Given the description of an element on the screen output the (x, y) to click on. 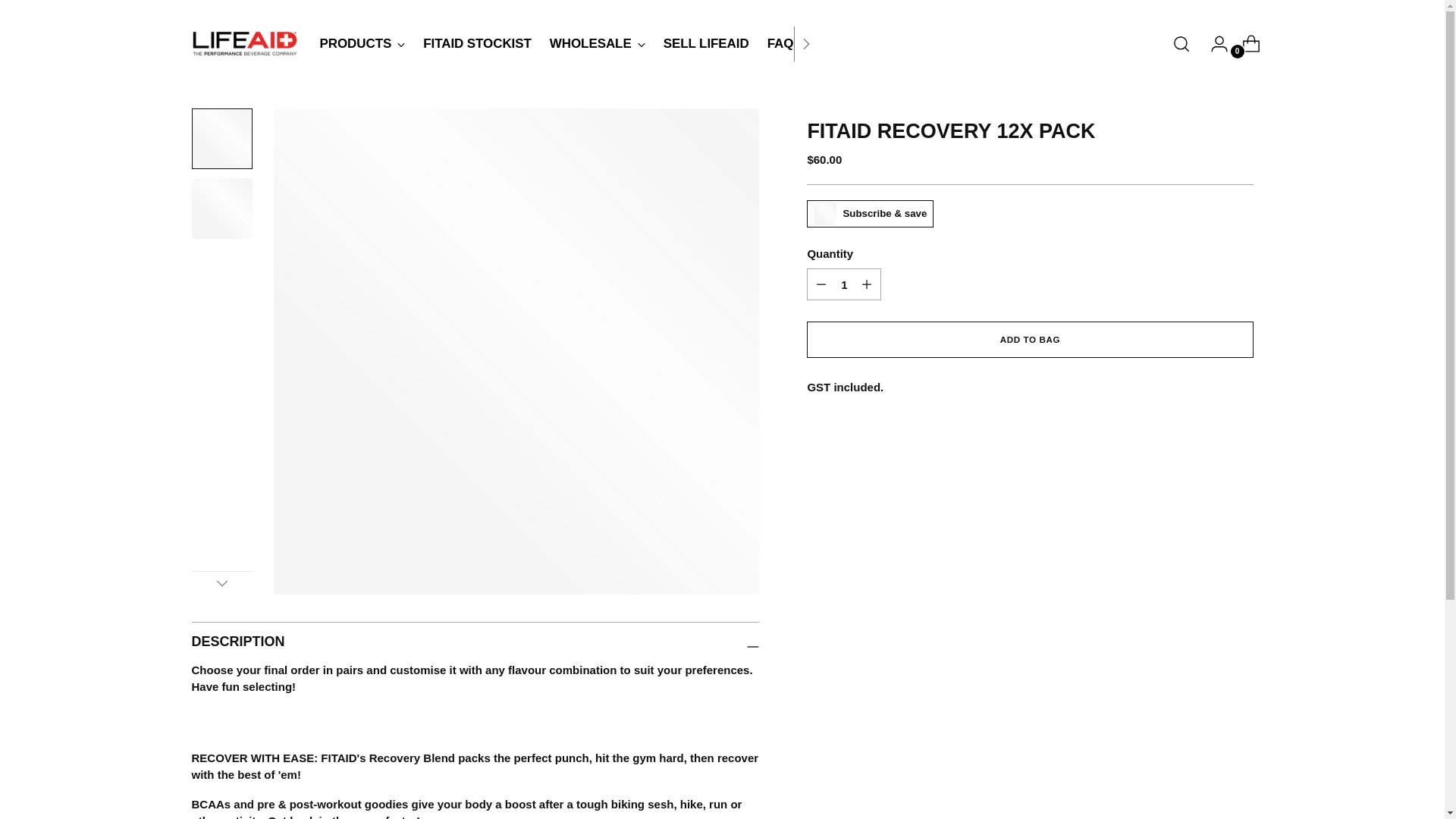
PRODUCTS (363, 43)
FITAID STOCKIST (477, 43)
WHOLESALE (597, 43)
Down (567, 43)
0 (220, 582)
1 (1245, 43)
SELL LIFEAID (843, 284)
